Given the description of an element on the screen output the (x, y) to click on. 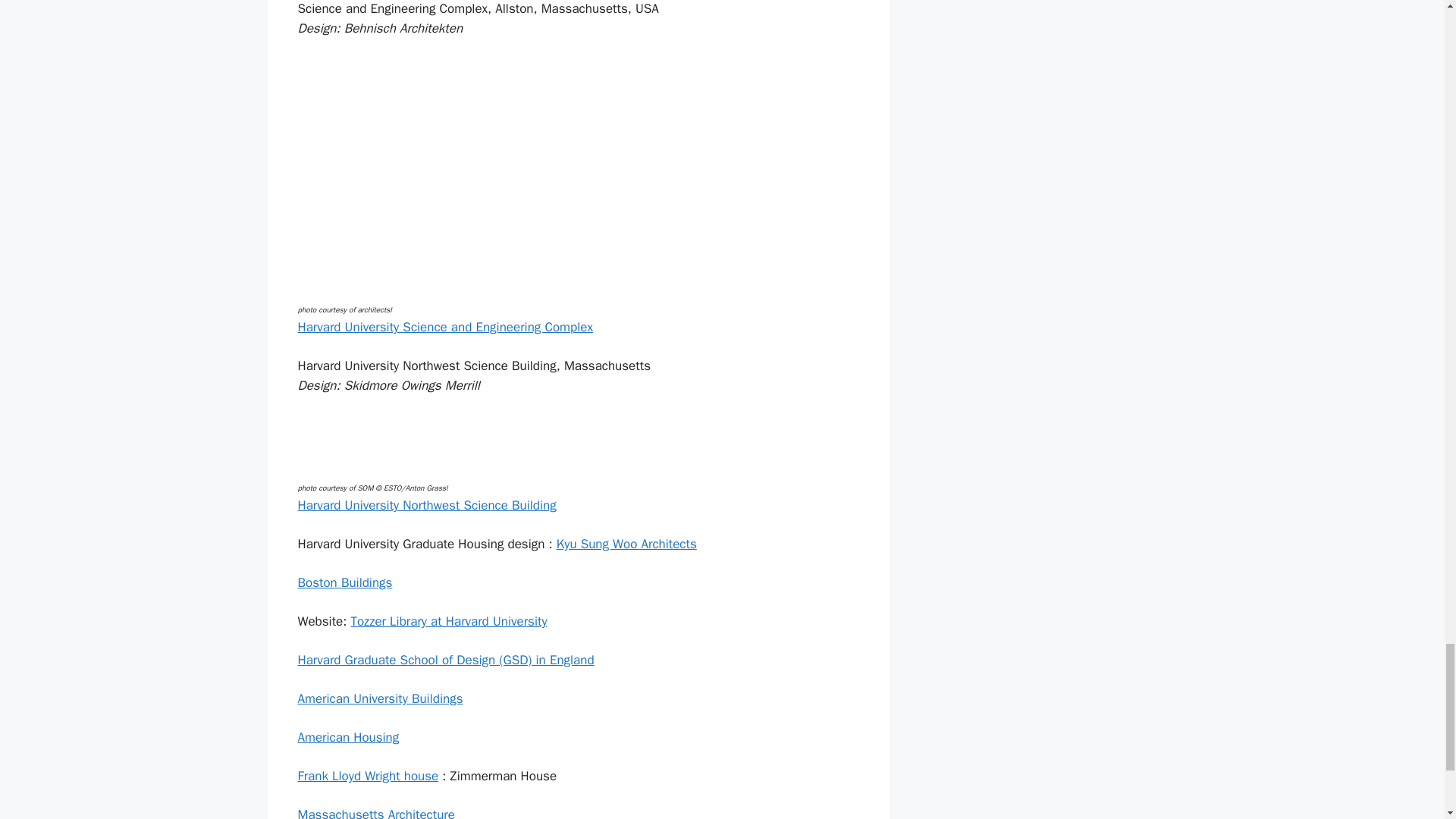
Boston Buildings (344, 582)
Tozzer Library at Harvard University (448, 621)
Harvard University Science and Engineering Complex (444, 326)
Harvard University Northwest Science Building (426, 505)
Kyu Sung Woo Architects (626, 544)
American University Buildings (380, 698)
